Given the description of an element on the screen output the (x, y) to click on. 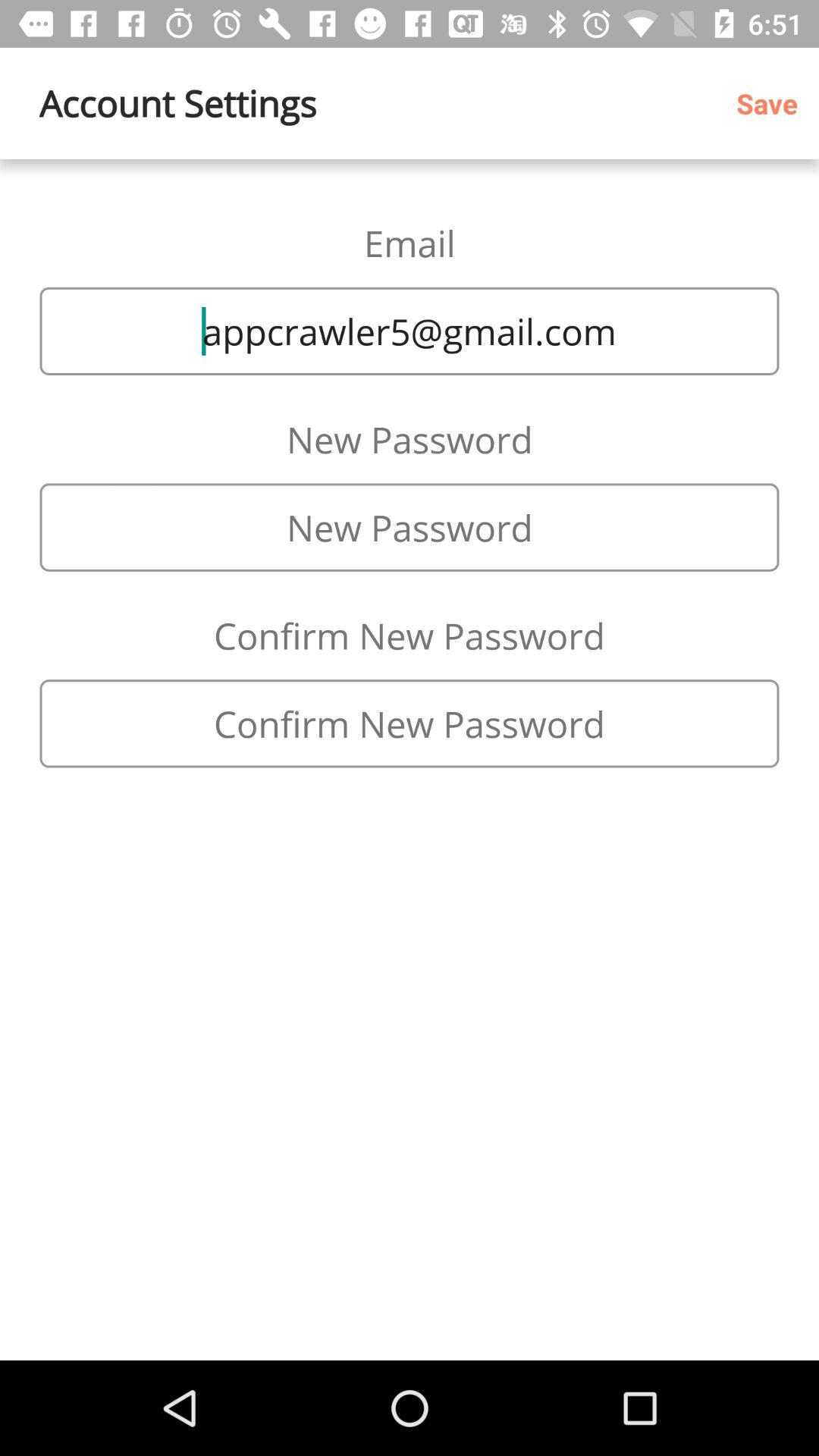
flip until the save (772, 103)
